Given the description of an element on the screen output the (x, y) to click on. 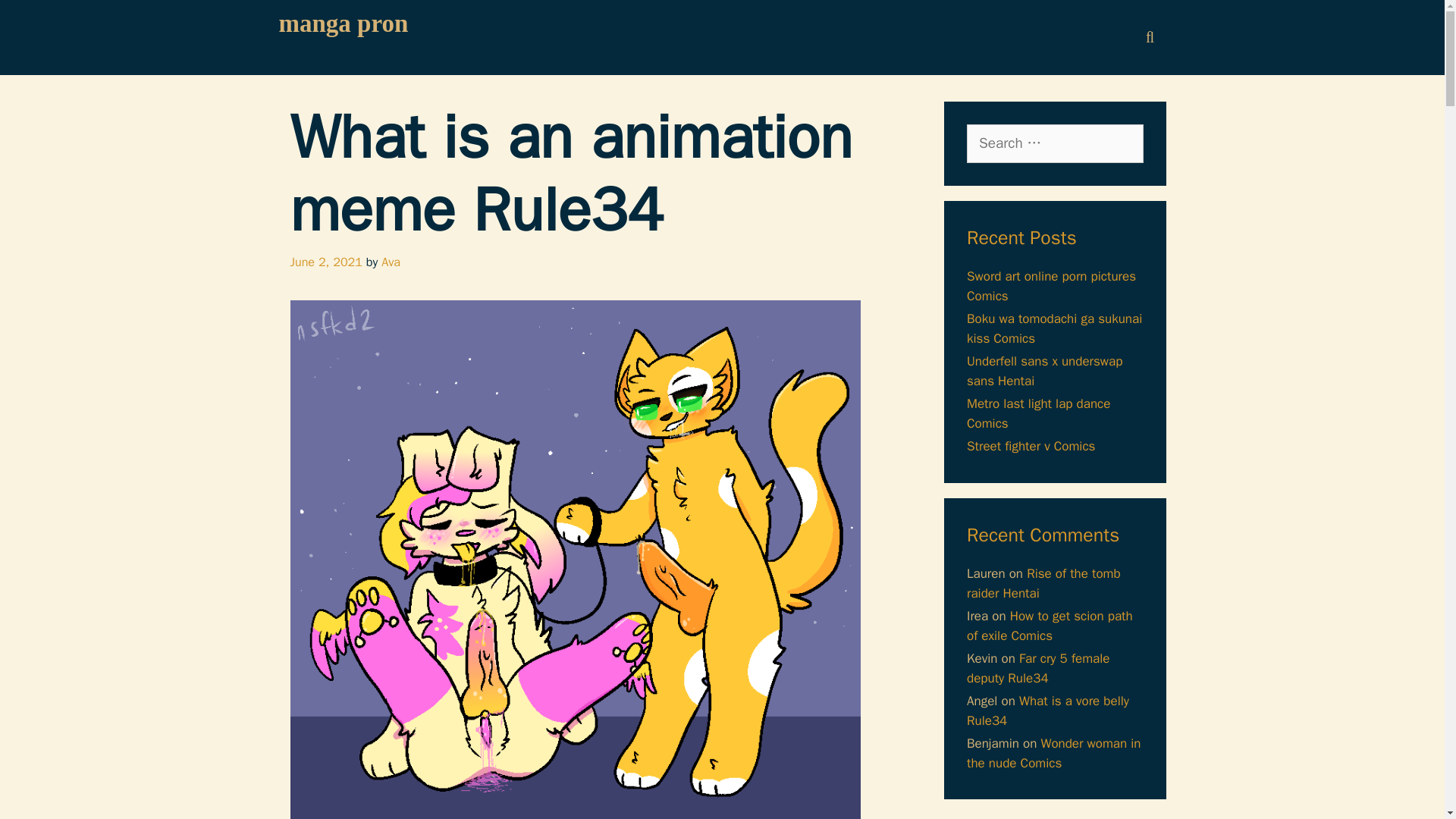
How to get scion path of exile Comics (1049, 625)
Metro last light lap dance Comics (1037, 413)
manga pron (344, 22)
Boku wa tomodachi ga sukunai kiss Comics (1053, 328)
Sword art online porn pictures Comics (1050, 285)
12:40 pm (325, 261)
Ava (390, 261)
What is a vore belly Rule34 (1047, 710)
June 2, 2021 (325, 261)
Far cry 5 female deputy Rule34 (1037, 668)
Search (35, 19)
Search for: (1054, 143)
View all posts by Ava (390, 261)
Wonder woman in the nude Comics (1053, 753)
Street fighter v Comics (1030, 446)
